Given the description of an element on the screen output the (x, y) to click on. 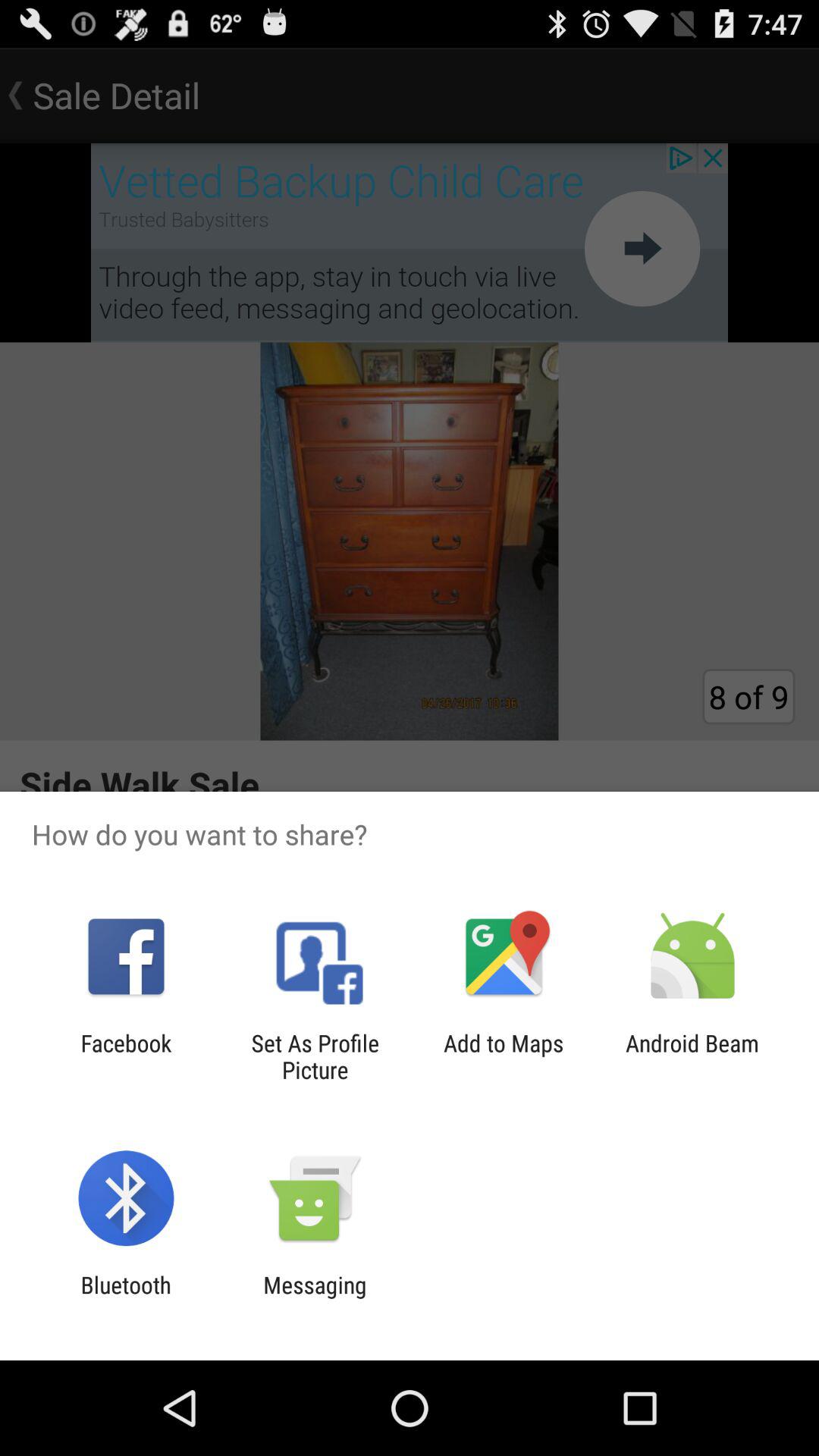
select the add to maps app (503, 1056)
